Given the description of an element on the screen output the (x, y) to click on. 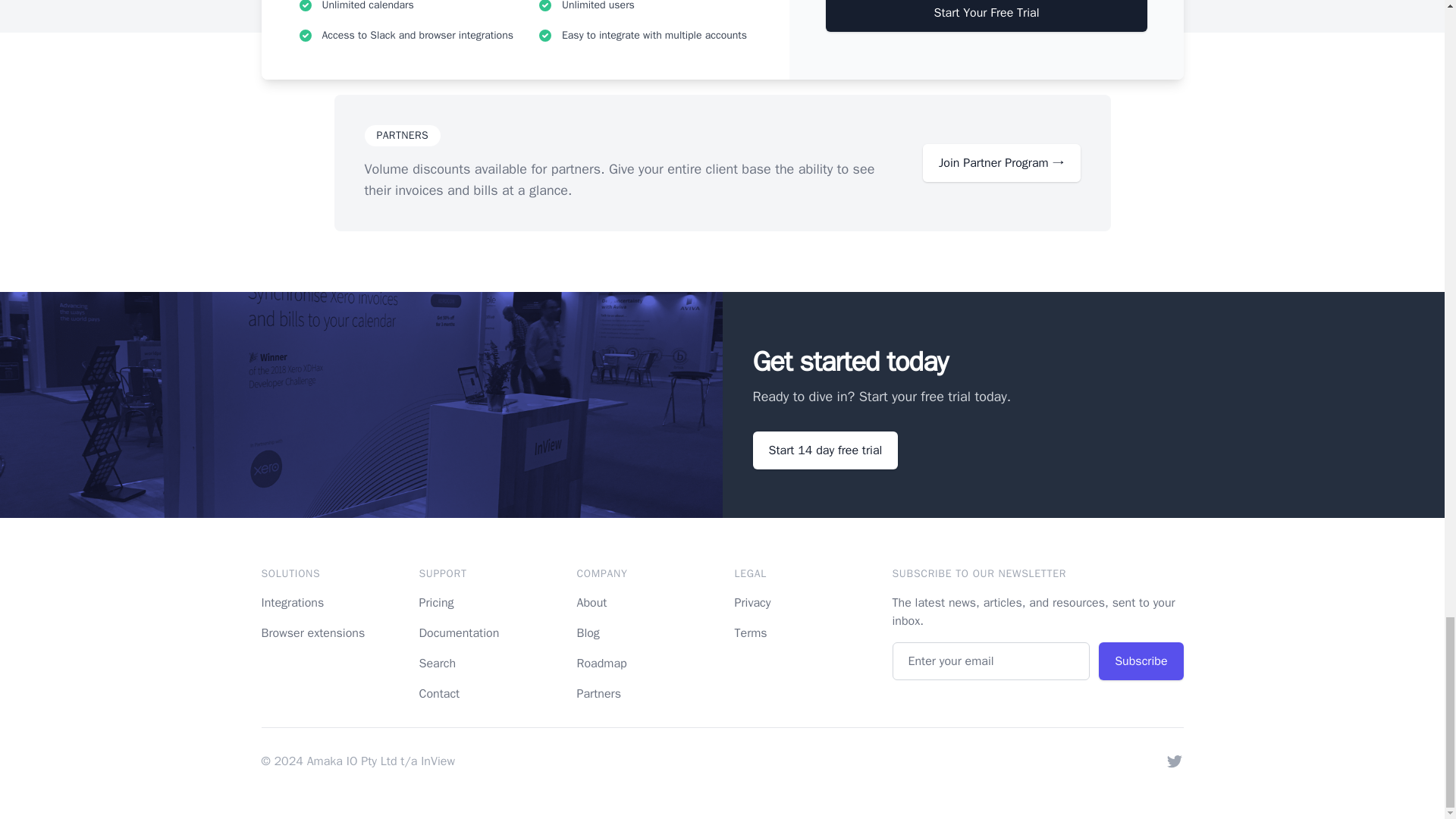
Start 14 day free trial (825, 450)
Browser extensions (312, 632)
Start Your Free Trial (986, 15)
Roadmap (601, 663)
Blog (587, 632)
Partners (598, 693)
Contact (439, 693)
Privacy (751, 602)
Pricing (435, 602)
Subscribe (1140, 661)
Terms (750, 632)
Search (437, 663)
About (591, 602)
Subscribe (1140, 661)
Documentation (459, 632)
